Given the description of an element on the screen output the (x, y) to click on. 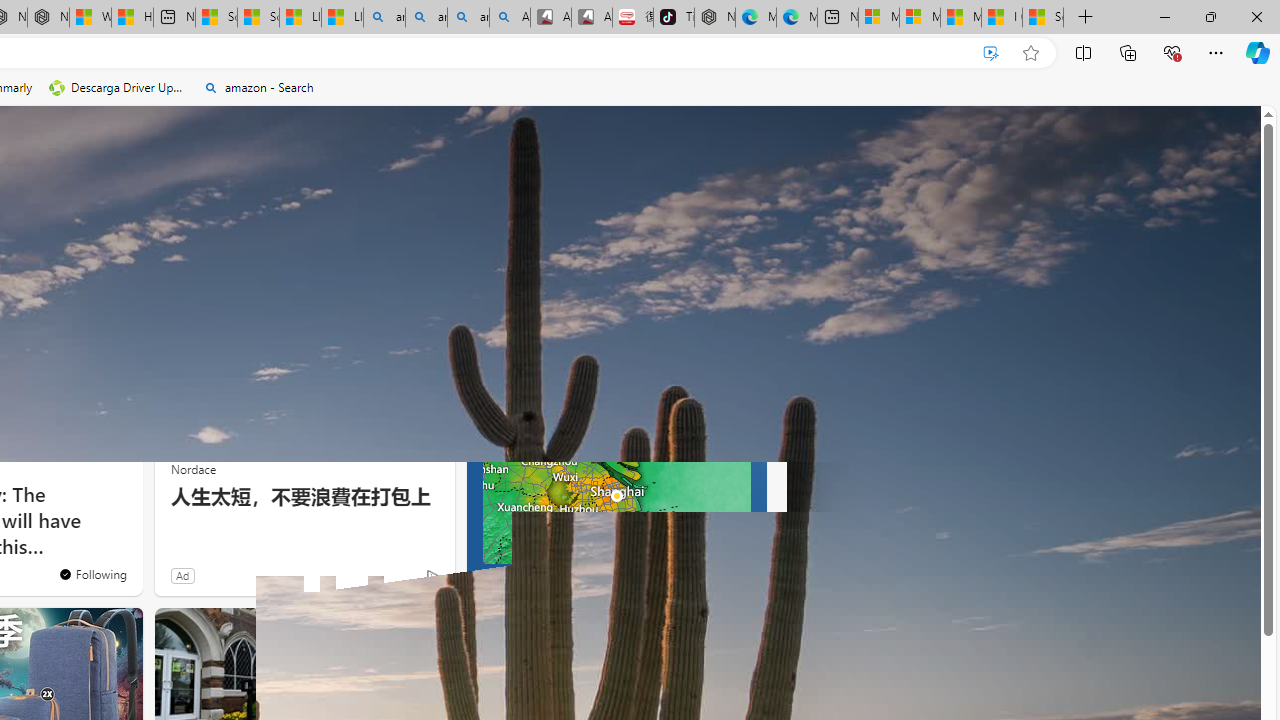
Wildlife - MSN (90, 17)
Travel (95, 265)
Browser essentials (1171, 52)
Real Estate (291, 265)
You're following FOX News (92, 573)
Open Copilot (347, 138)
See full forecast (695, 579)
Feed settings (703, 266)
Microsoft account | Privacy (919, 17)
Class: weather-arrow-glyph (746, 367)
Page settings (1216, 138)
Shanghai (511, 315)
Notifications (1176, 138)
Split screen (1083, 52)
